Given the description of an element on the screen output the (x, y) to click on. 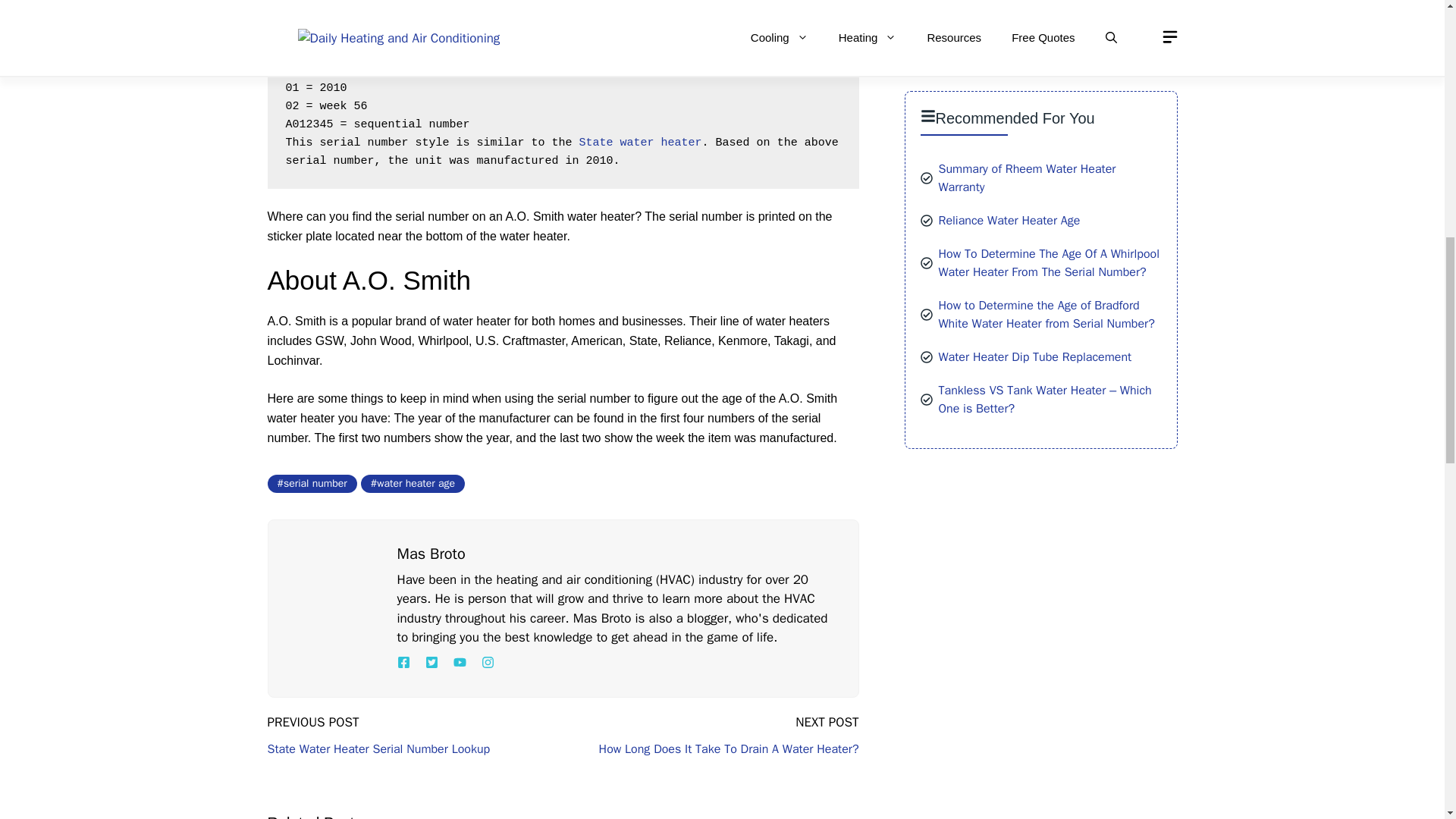
How Long Does It Take To Drain A Water Heater? (728, 749)
State Water Heater Serial Number Lookup (377, 749)
serial number (311, 484)
State water heater (640, 142)
water heater age (412, 484)
